Given the description of an element on the screen output the (x, y) to click on. 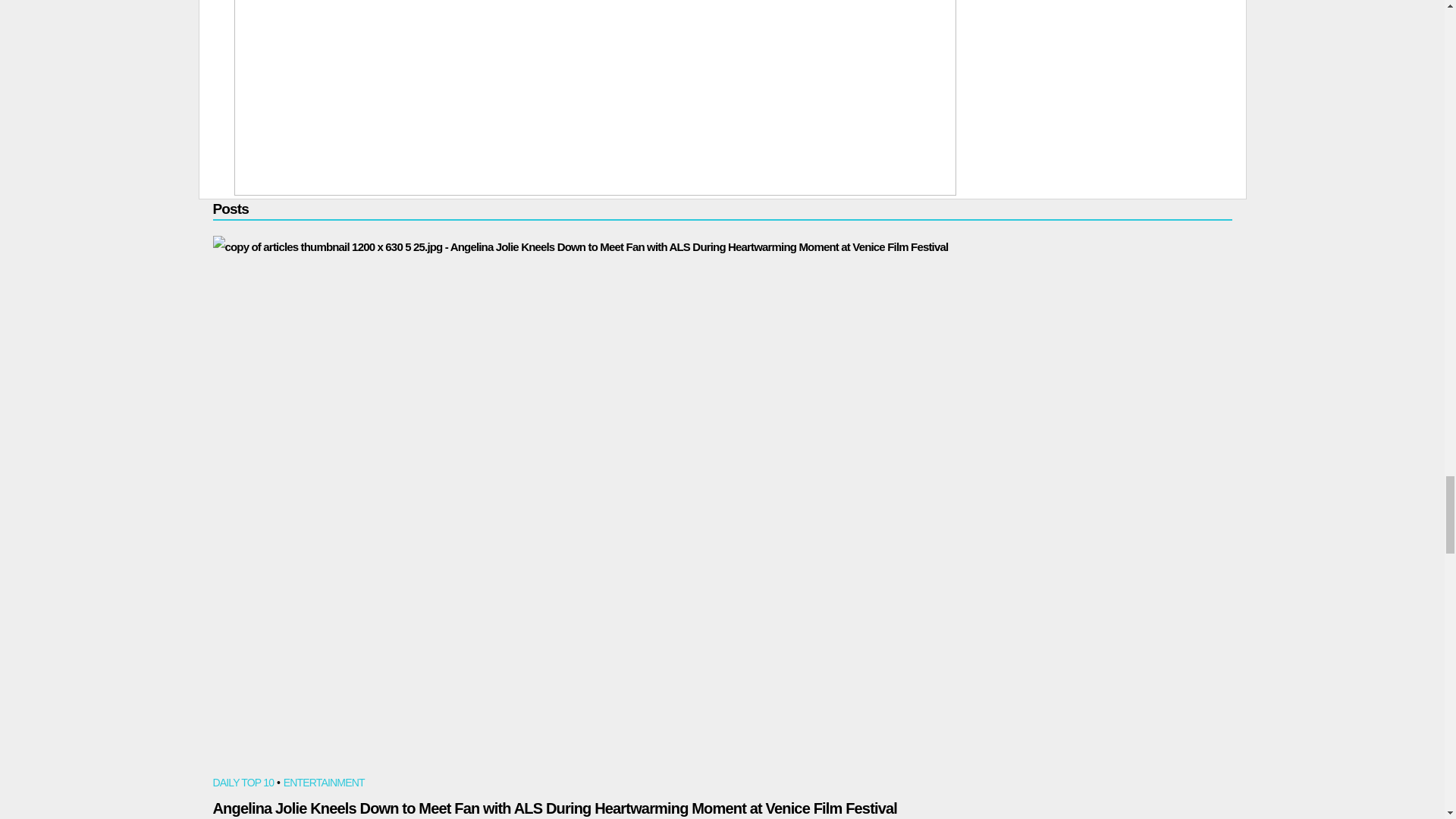
ENTERTAINMENT (324, 783)
DAILY TOP 10 (242, 783)
